Given the description of an element on the screen output the (x, y) to click on. 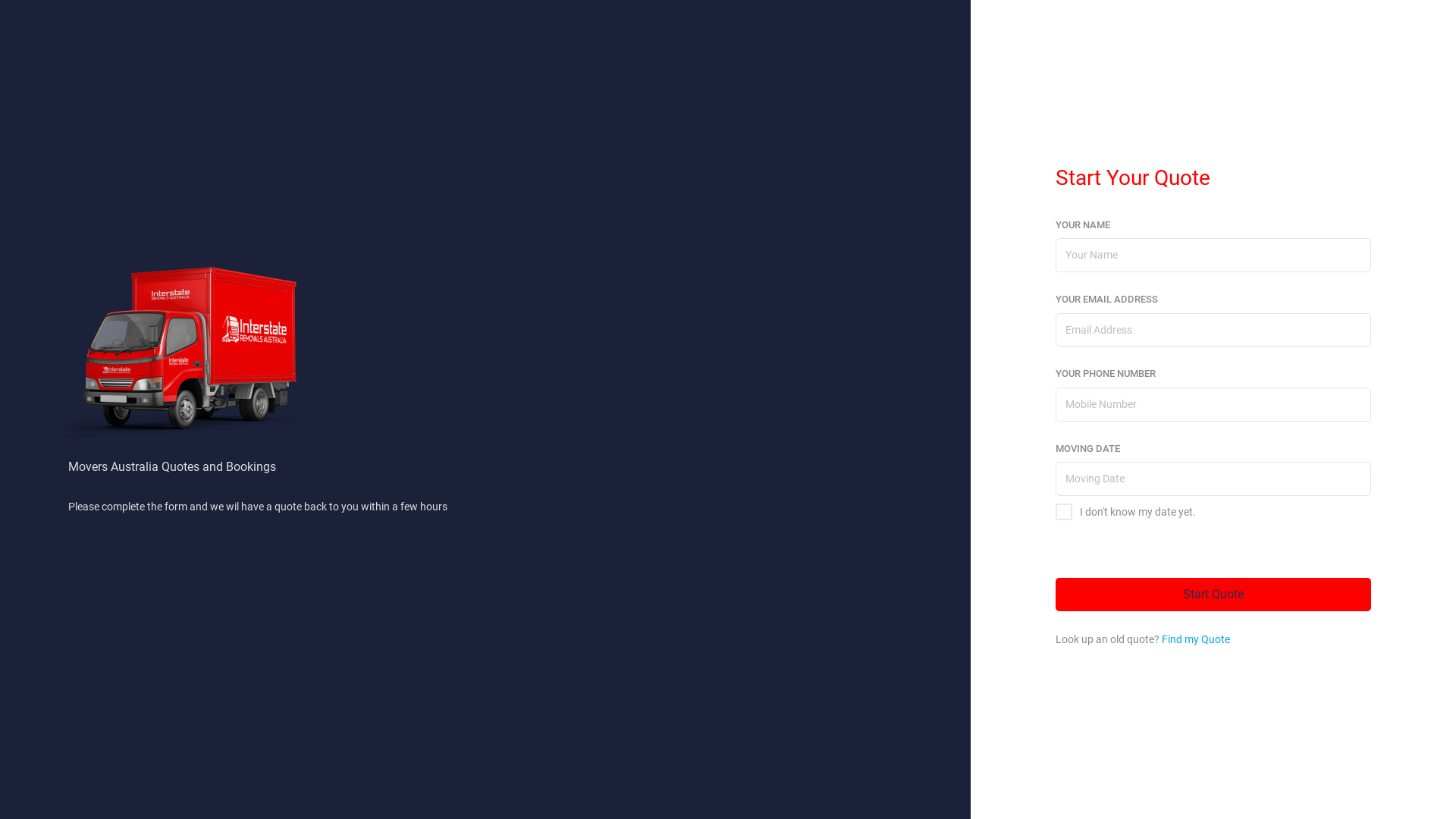
Start Quote Element type: text (1213, 594)
Find my Quote Element type: text (1195, 639)
